Given the description of an element on the screen output the (x, y) to click on. 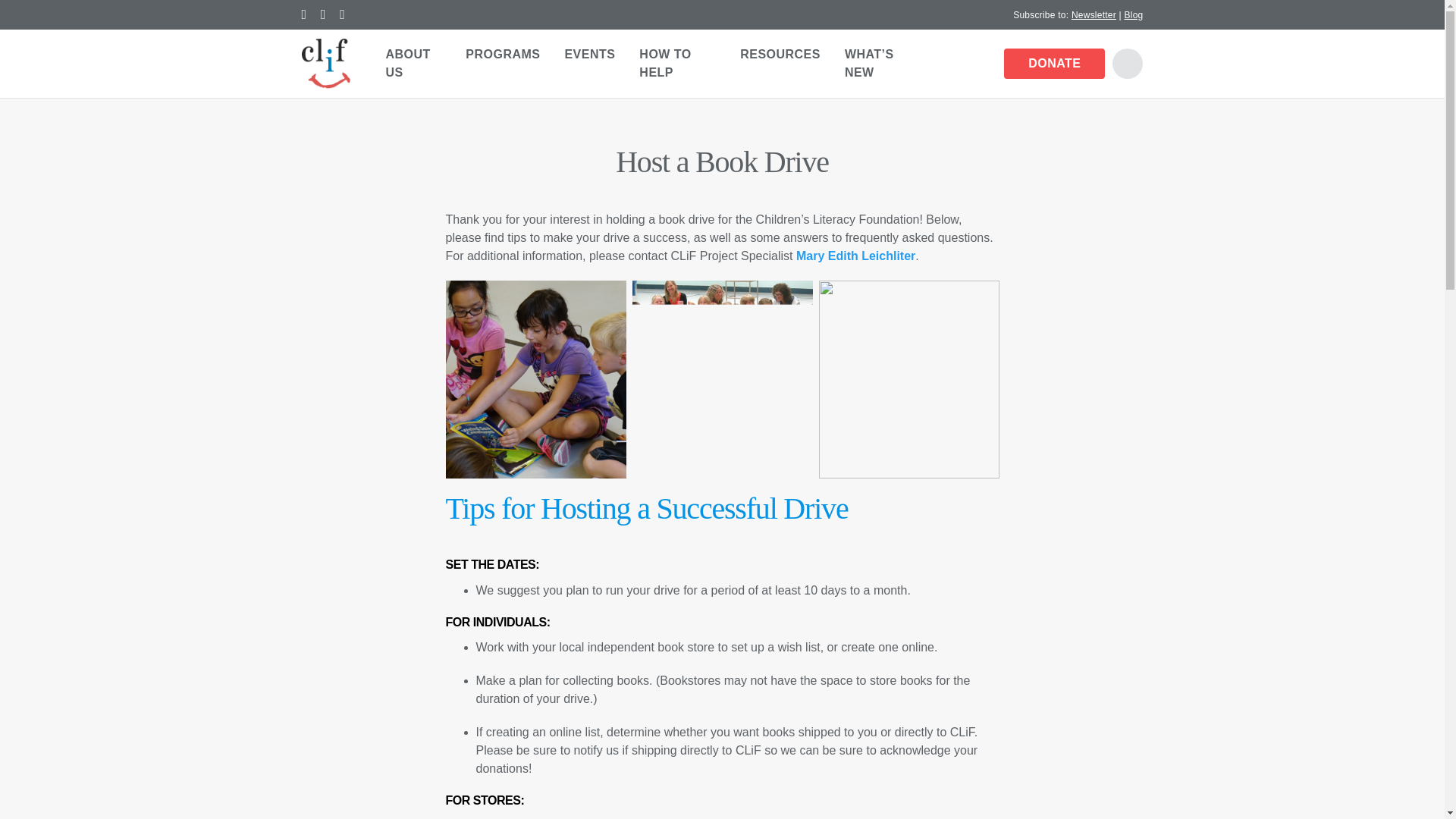
Blog (1133, 14)
HOW TO HELP (677, 63)
PROGRAMS (501, 54)
DONATE (1054, 63)
ABOUT US (412, 63)
RESOURCES (780, 54)
EVENTS (589, 54)
Newsletter (1093, 14)
